Given the description of an element on the screen output the (x, y) to click on. 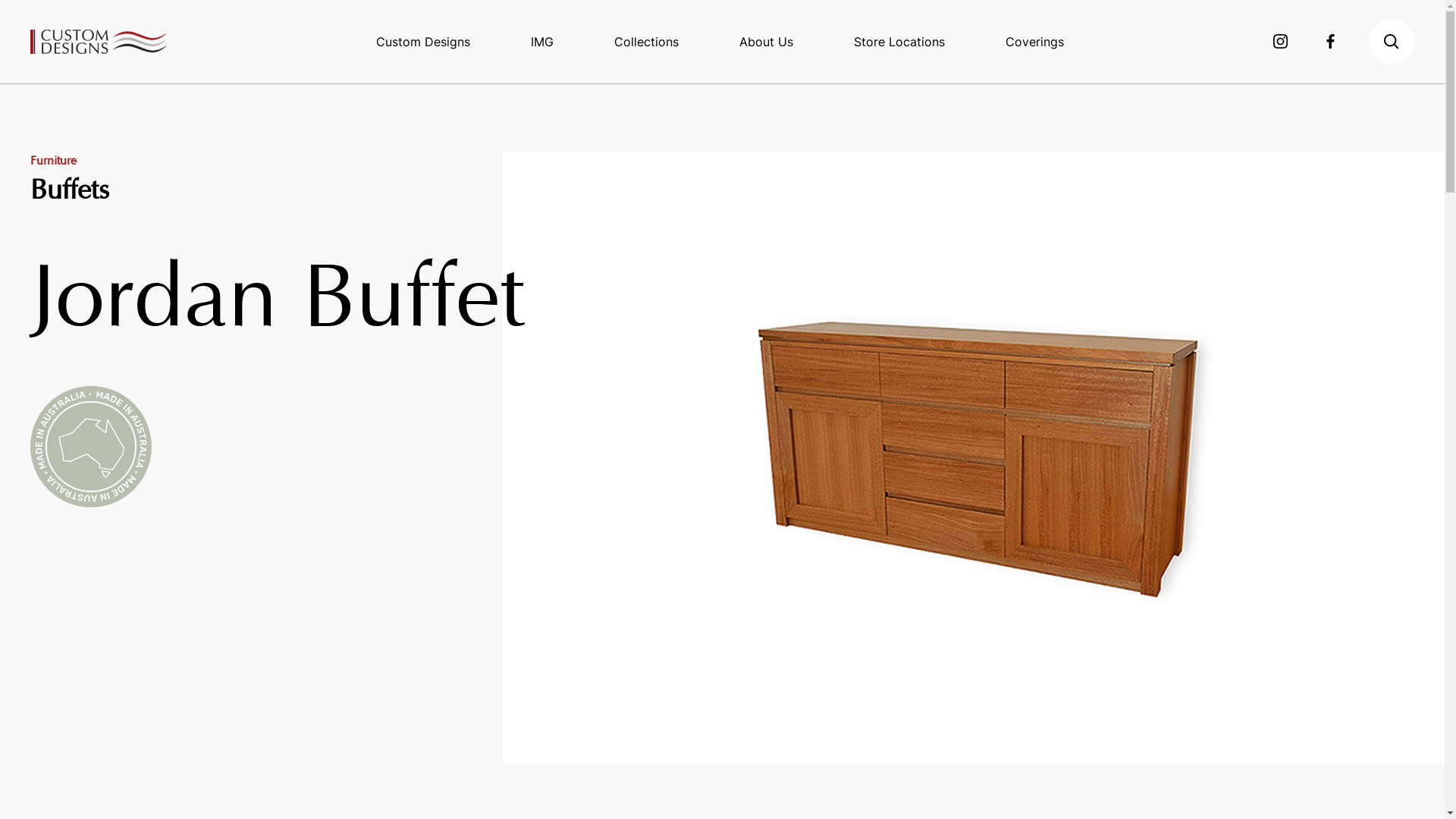
Facebook Element type: text (1330, 41)
About Us Element type: text (766, 41)
Store Locations Element type: text (898, 41)
Collections Element type: text (646, 41)
Instagram Element type: text (1280, 41)
Custom Designs Element type: text (98, 41)
Coverings Element type: text (1034, 41)
IMG Element type: text (541, 41)
Custom Designs Element type: text (423, 41)
Search Element type: text (1391, 41)
